Given the description of an element on the screen output the (x, y) to click on. 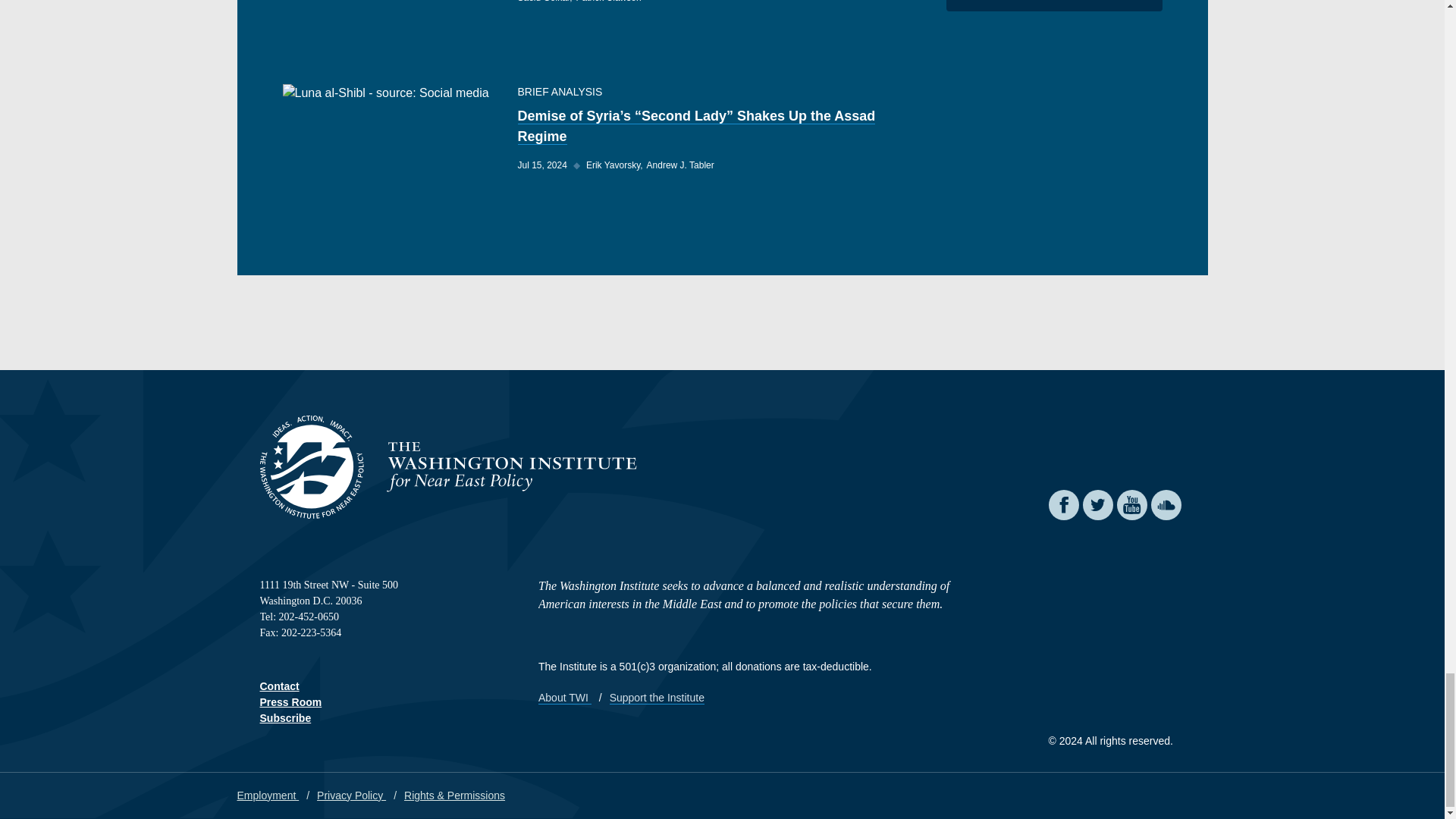
Sign up for email alerts of Institute publications (285, 717)
